Given the description of an element on the screen output the (x, y) to click on. 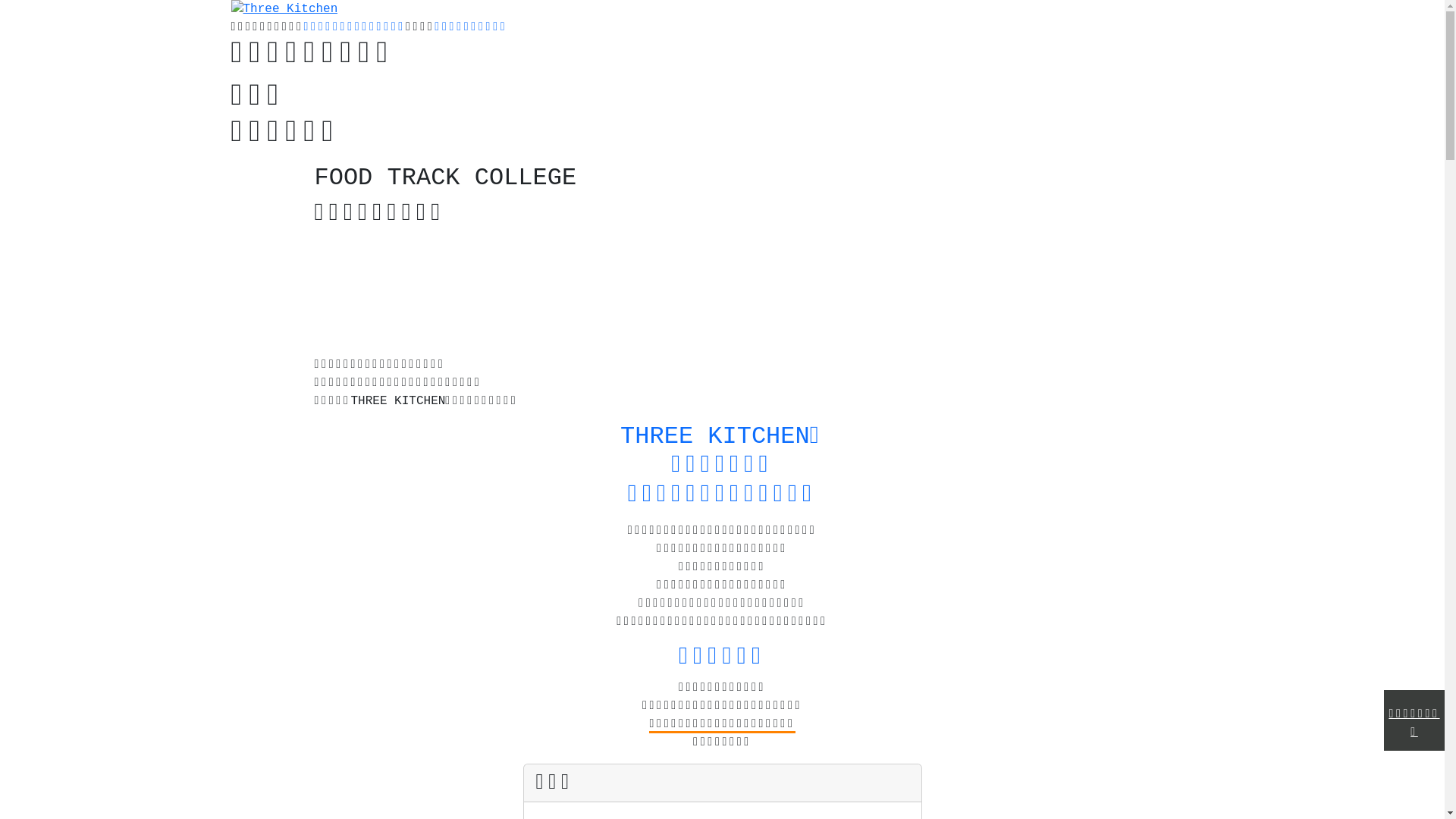
Three Kitchen Element type: text (277, 27)
